Given the description of an element on the screen output the (x, y) to click on. 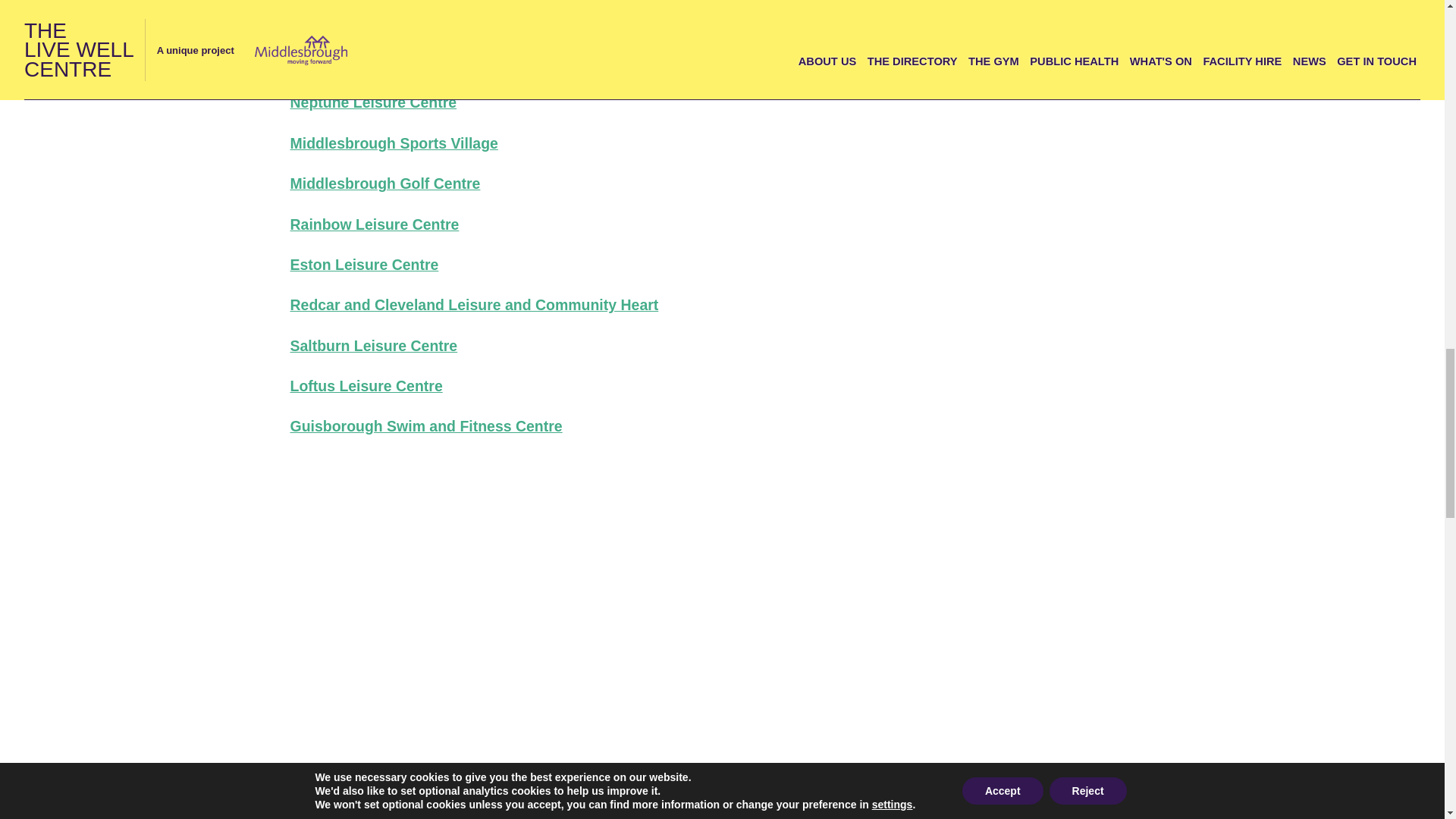
Saltburn Leisure Centre (373, 345)
Middlesbrough Golf Centre (384, 183)
Neptune Leisure Centre (373, 102)
Loftus Leisure Centre (365, 385)
Rainbow Leisure Centre (373, 223)
Middlesbrough Sports Village (393, 143)
Guisborough Swim and Fitness Centre (425, 425)
Redcar and Cleveland Leisure and Community Heart (473, 304)
Eston Leisure Centre (363, 264)
